Given the description of an element on the screen output the (x, y) to click on. 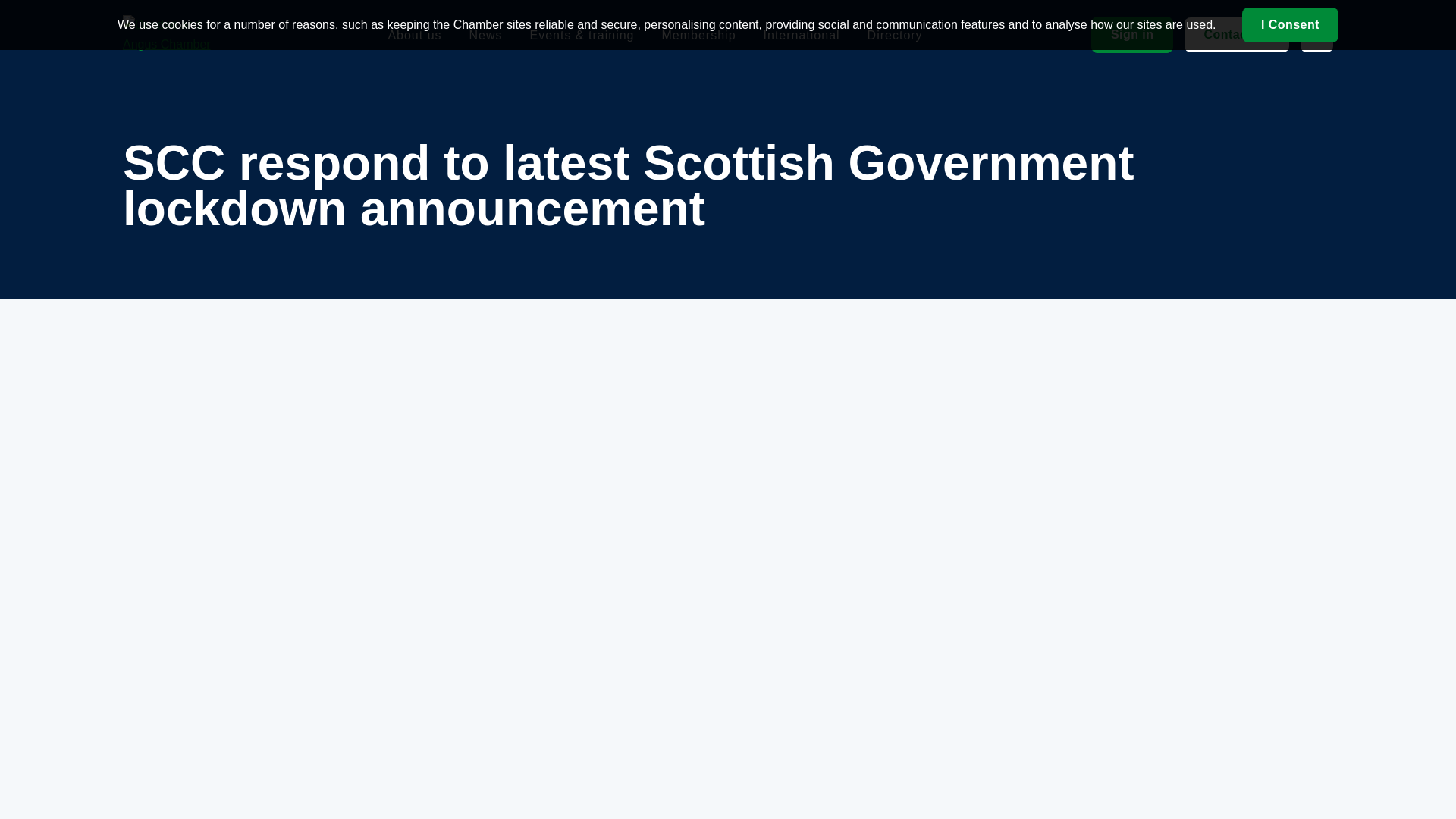
Directory (895, 34)
Learn more about how we use cookies (181, 24)
Sign in (1131, 34)
Membership (698, 34)
News (485, 34)
Contact us (1236, 34)
cookies (181, 24)
International (801, 34)
Sign in (1131, 34)
About us (414, 34)
I Consent (1289, 24)
